Given the description of an element on the screen output the (x, y) to click on. 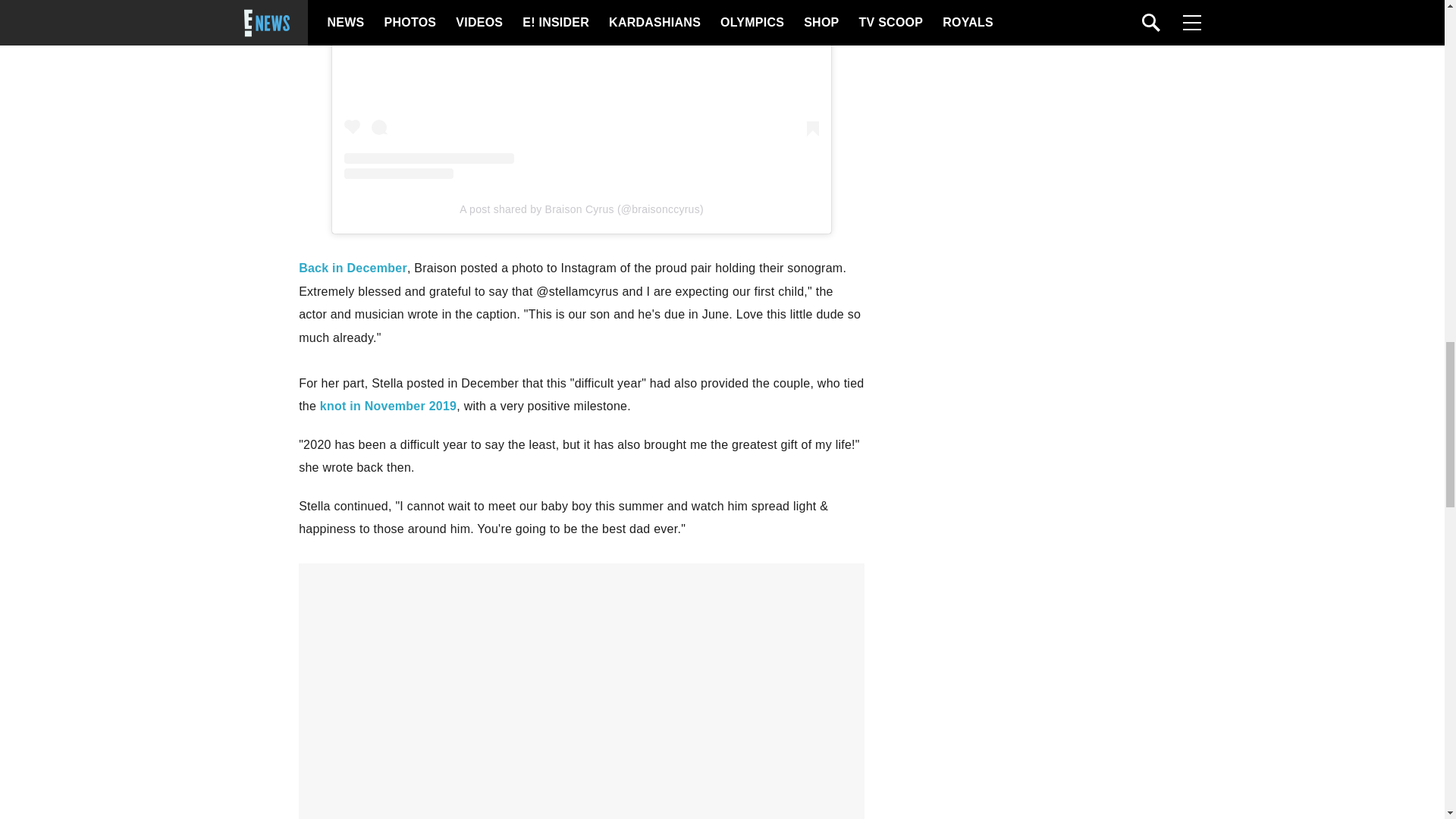
knot in November 2019 (388, 405)
Back in December (352, 267)
View this post on Instagram (580, 89)
